Given the description of an element on the screen output the (x, y) to click on. 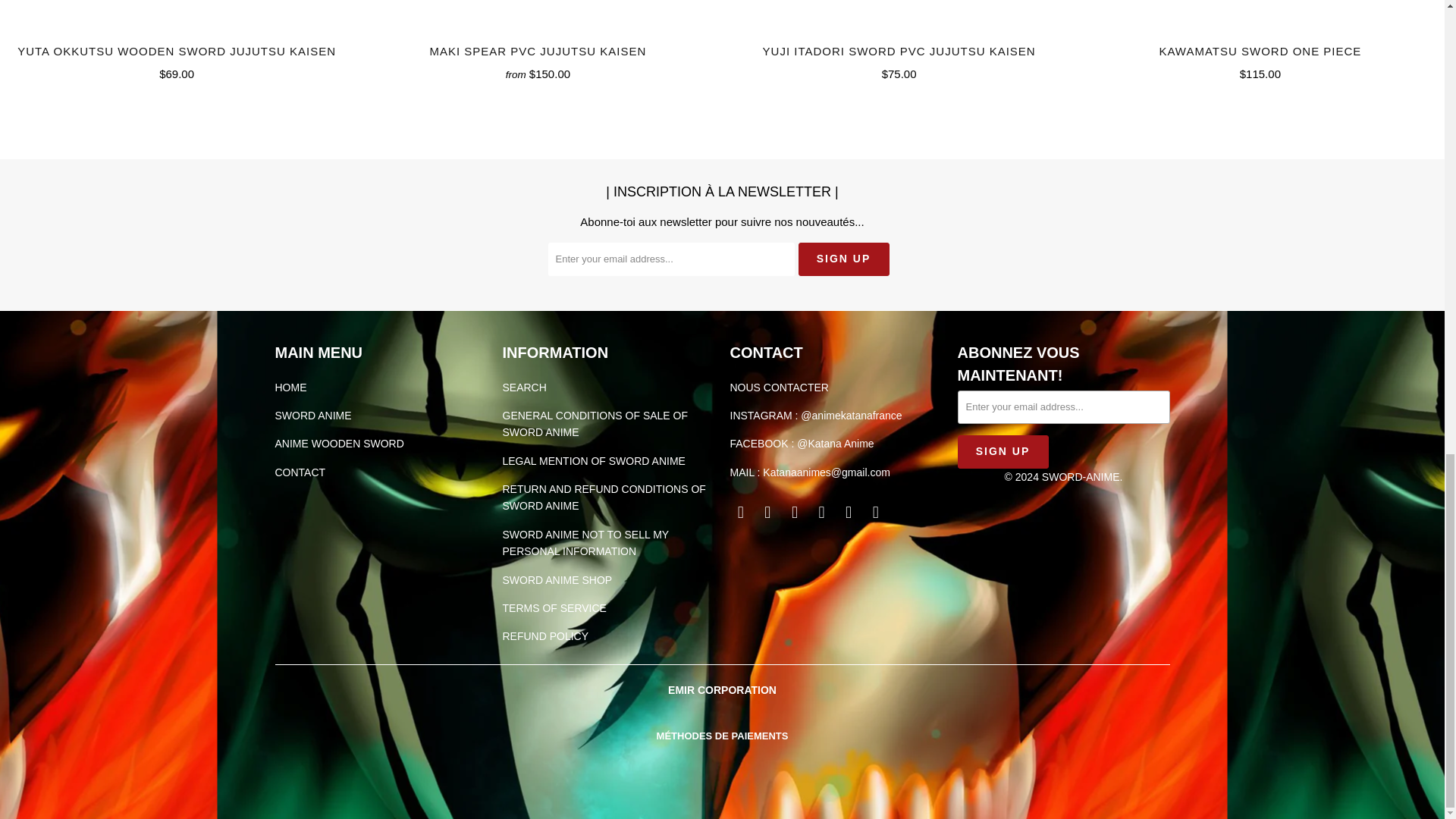
sword-anime on Pinterest (795, 512)
sword-anime on Snapchat (849, 512)
sword-anime on YouTube (767, 512)
sword-anime on Facebook (740, 512)
Sign Up (1002, 450)
Email sword-anime (875, 512)
sword-anime on Instagram (821, 512)
Sign Up (842, 258)
